Given the description of an element on the screen output the (x, y) to click on. 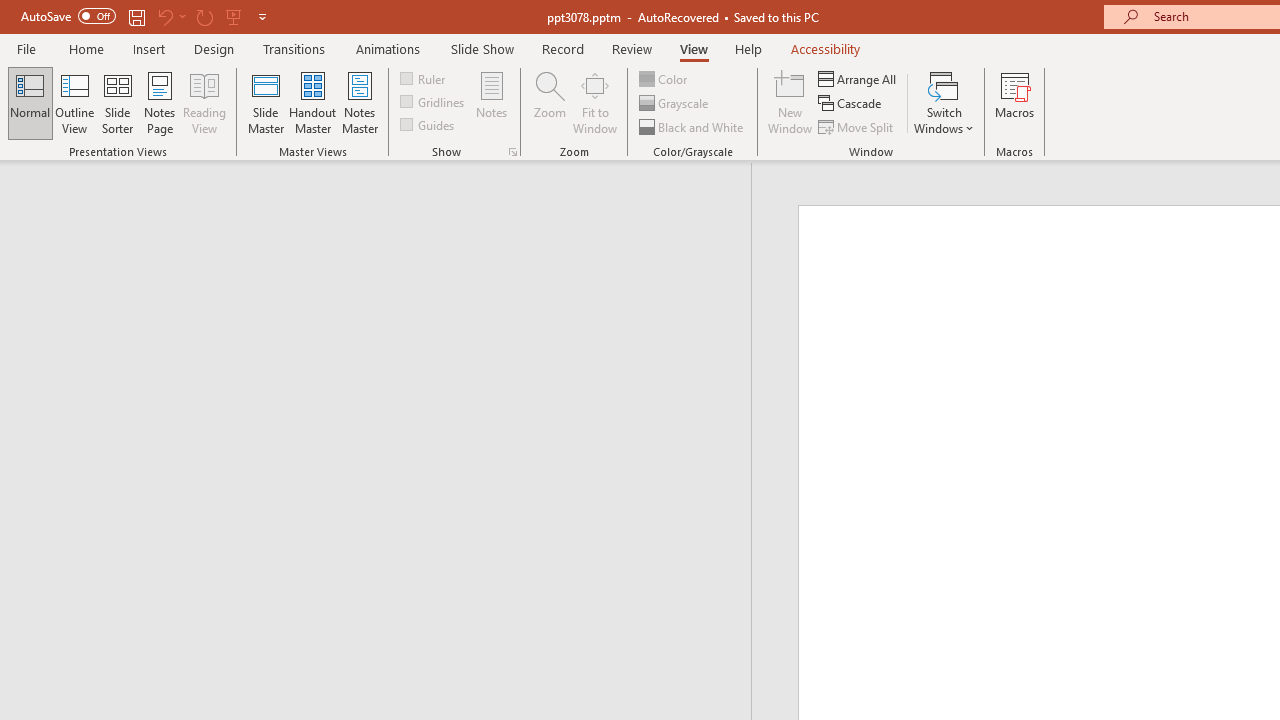
Fit to Window (594, 102)
Notes (492, 102)
Guides (428, 124)
Outline View (74, 102)
Cascade (851, 103)
